Given the description of an element on the screen output the (x, y) to click on. 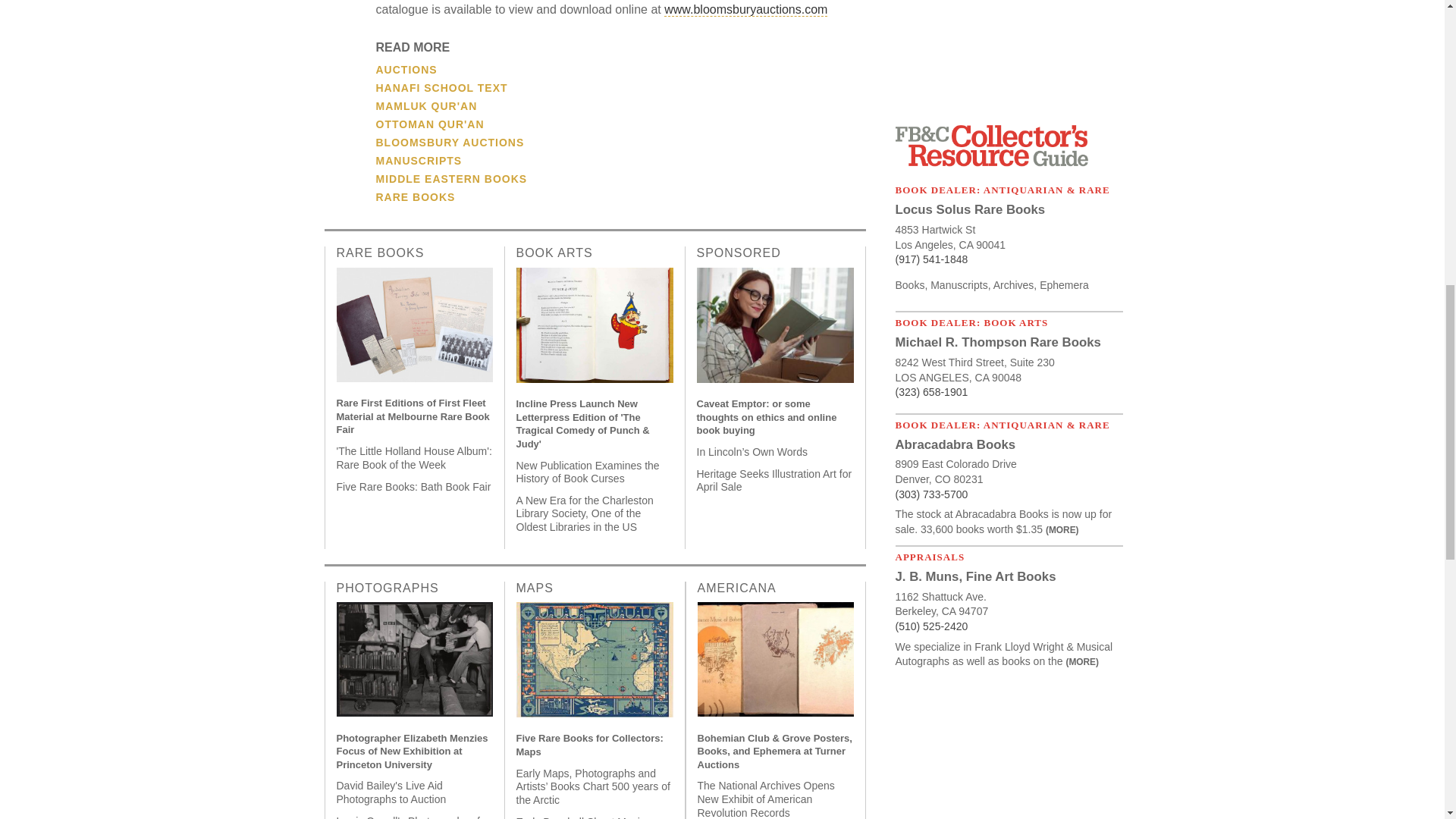
3rd party ad content (1008, 54)
MIDDLE EASTERN BOOKS (451, 178)
HANAFI SCHOOL TEXT (441, 87)
OTTOMAN QUR'AN (429, 123)
BLOOMSBURY AUCTIONS (449, 142)
www.bloomsburyauctions.com (745, 9)
RARE BOOKS (415, 196)
MANUSCRIPTS (419, 160)
AUCTIONS (406, 69)
MAMLUK QUR'AN (426, 105)
